Given the description of an element on the screen output the (x, y) to click on. 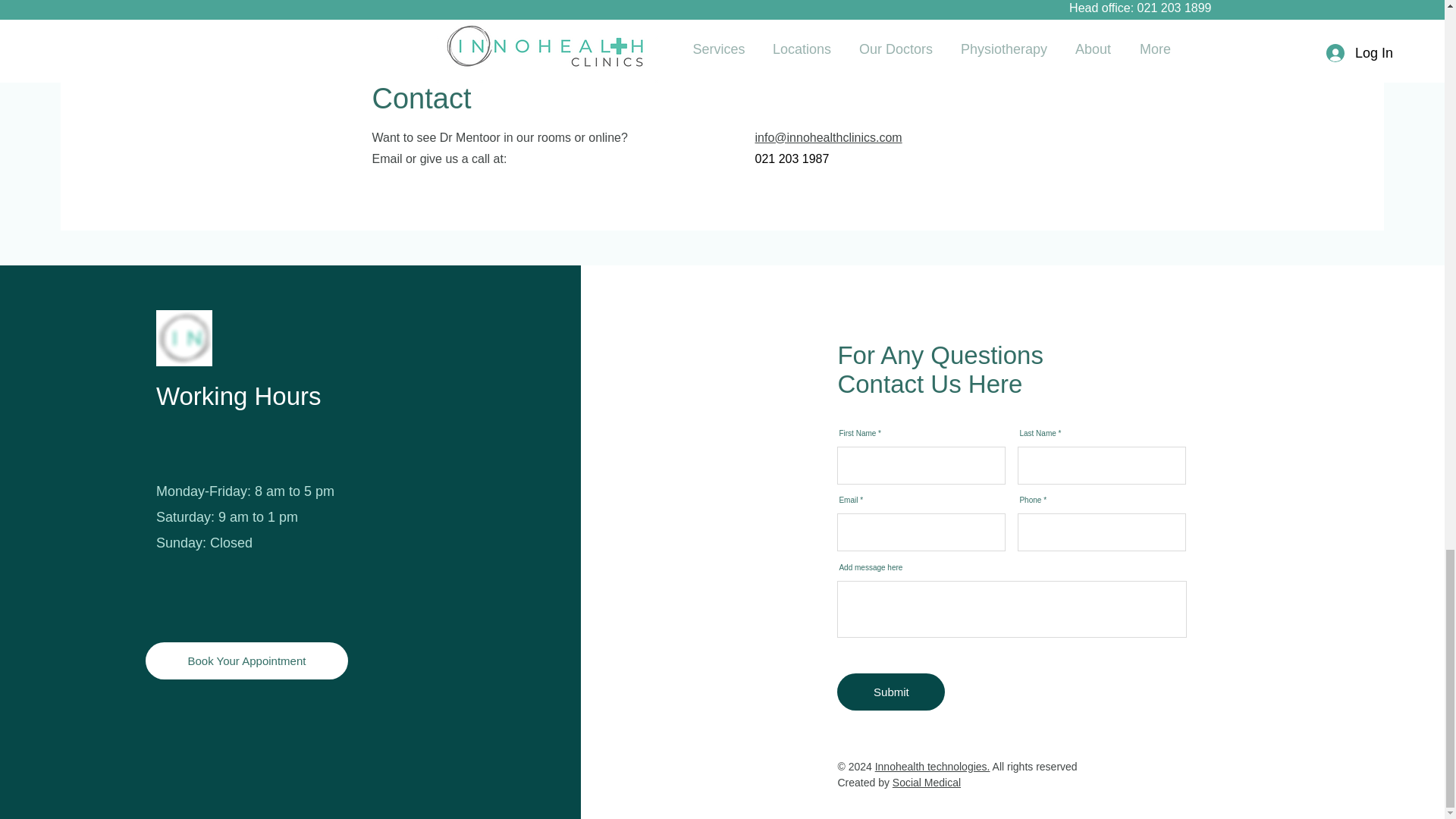
Innohealth technologies. (932, 766)
Book Your Appointment (246, 660)
Social Medical (926, 782)
Submit (890, 691)
Innohealth icon.png (183, 338)
